Given the description of an element on the screen output the (x, y) to click on. 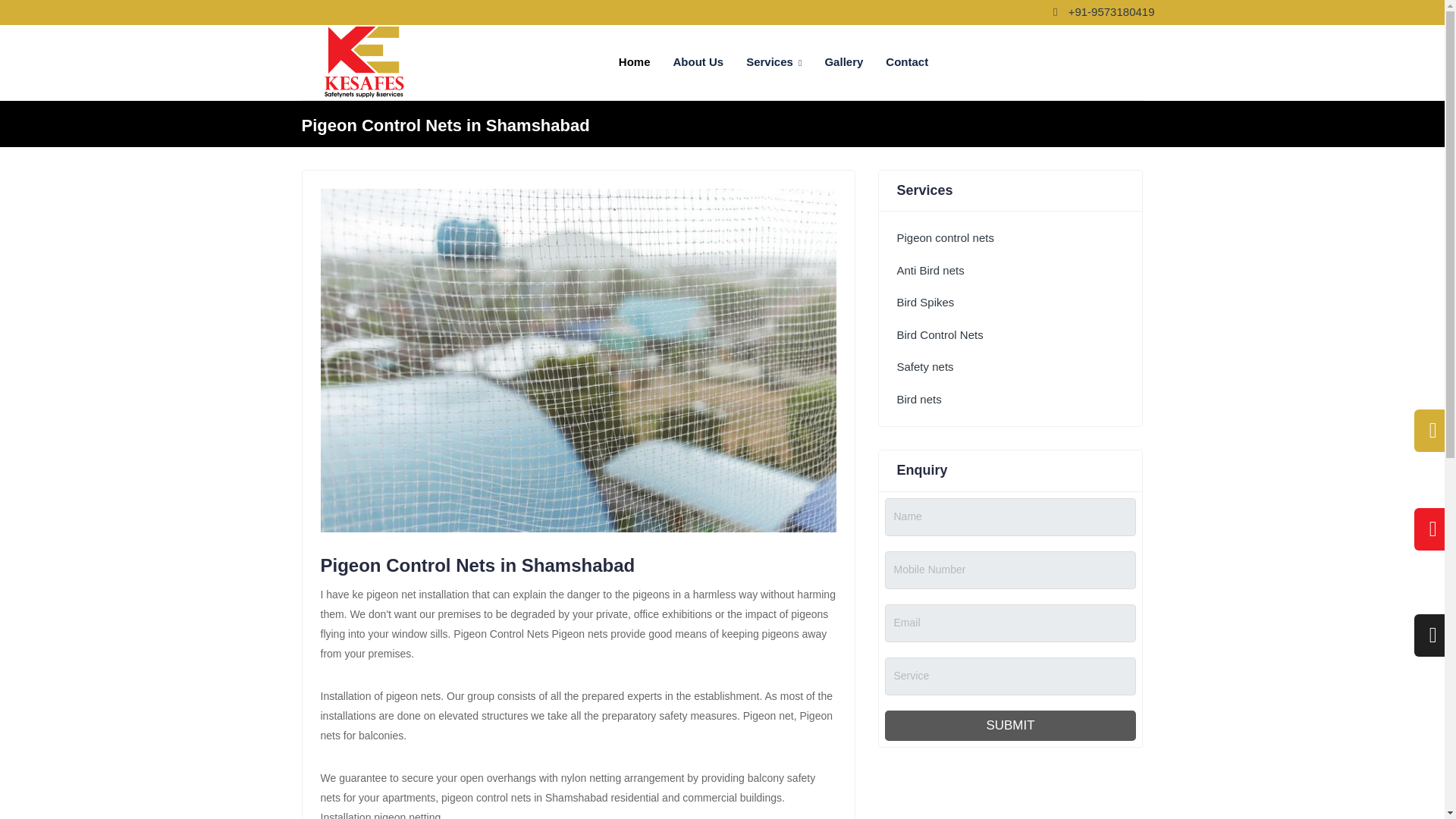
Services (773, 62)
About Us (697, 62)
